Given the description of an element on the screen output the (x, y) to click on. 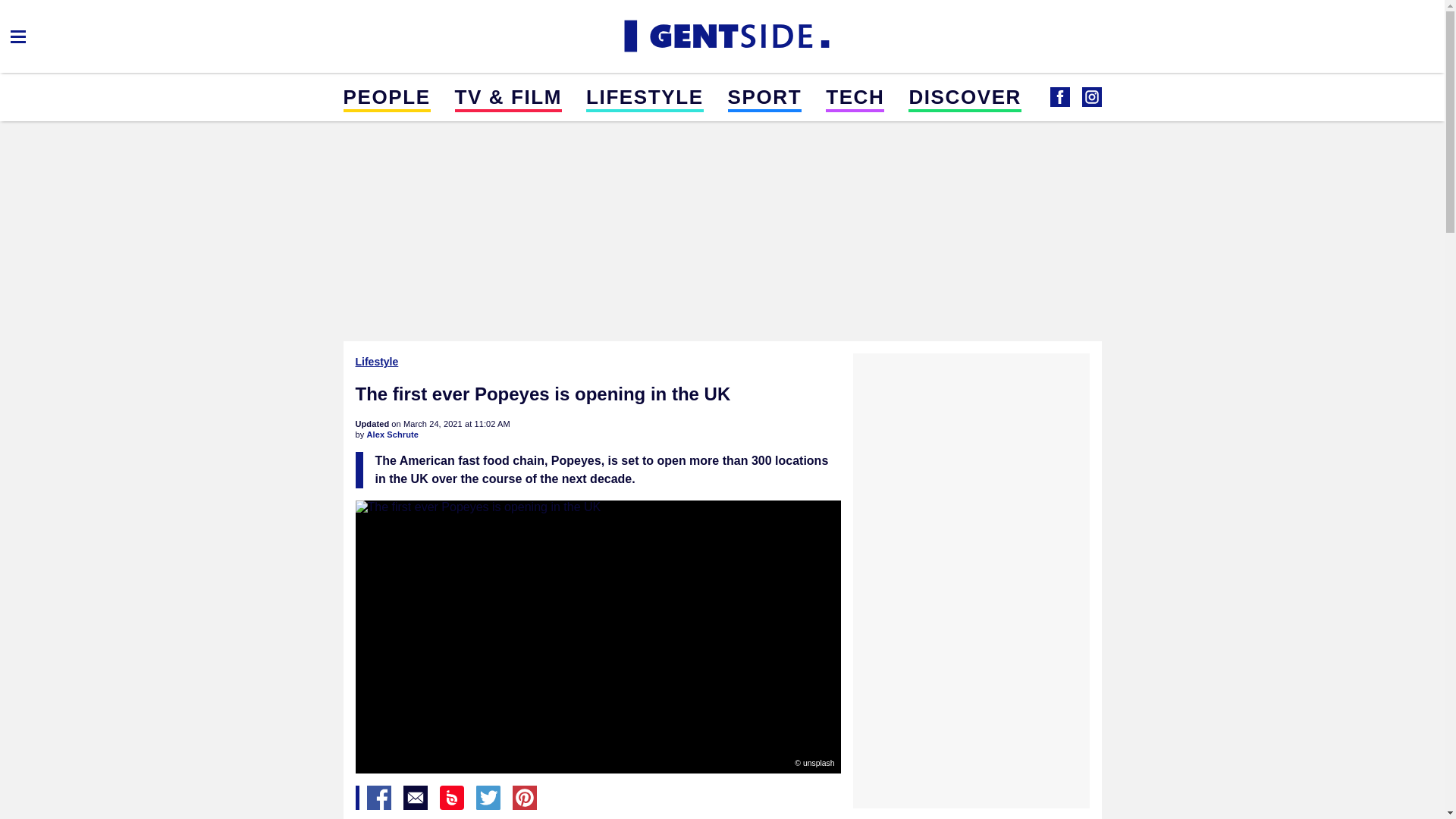
Gentside UK (1090, 96)
PEOPLE (385, 96)
LIFESTYLE (644, 96)
Share on Facebook (378, 797)
TECH (854, 96)
Pin it (524, 797)
Alex Schrute (391, 433)
Tweeter (488, 797)
SPORT (765, 96)
Share on Flipboard (451, 797)
Share on Mail (415, 797)
DISCOVER (965, 96)
Gentside UK (721, 36)
Gentside Lifestyle (1058, 96)
Alex Schrute  (391, 433)
